Given the description of an element on the screen output the (x, y) to click on. 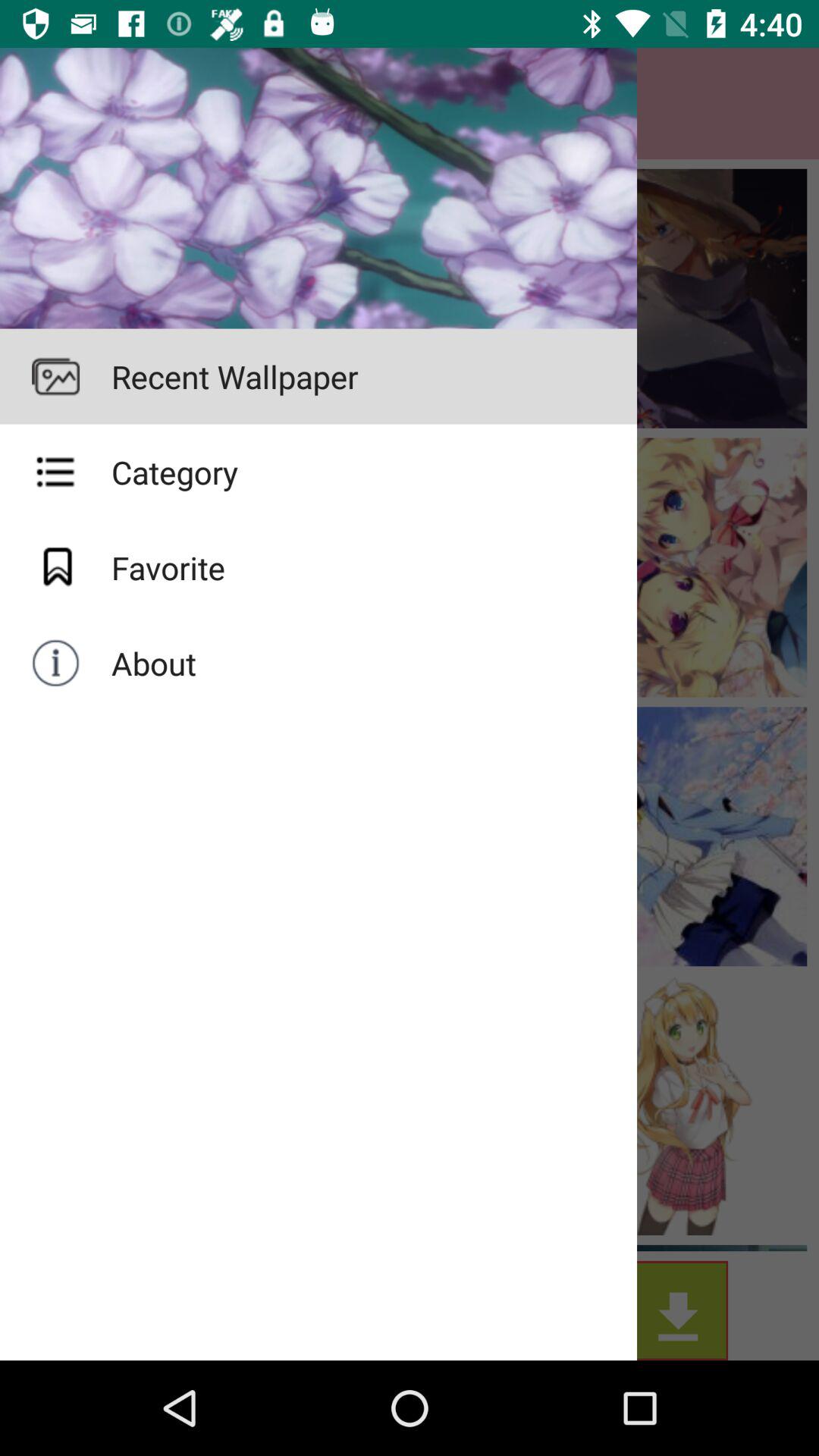
select the down arrow symbol (318, 377)
